Given the description of an element on the screen output the (x, y) to click on. 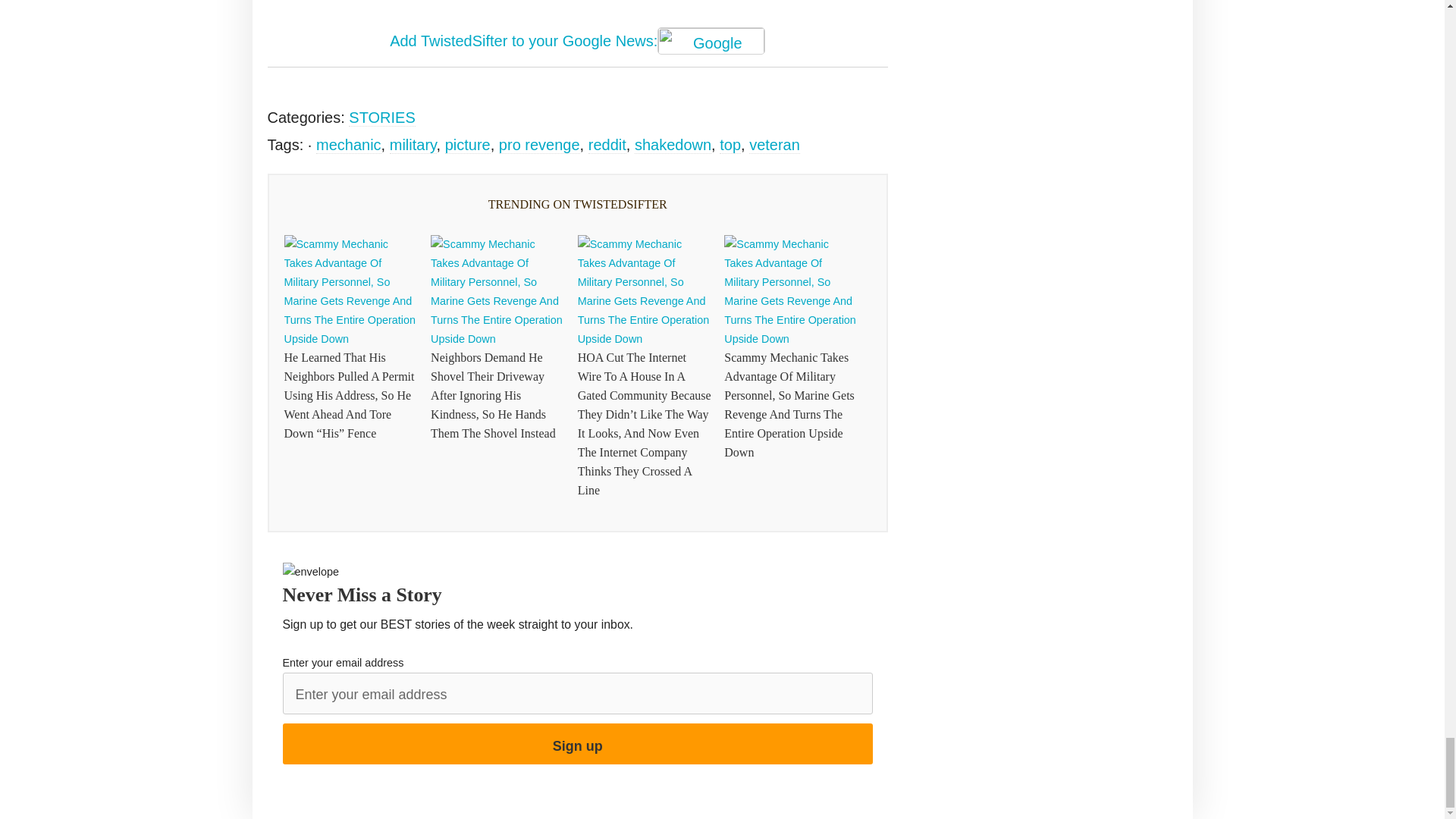
mechanic (348, 144)
pro revenge (539, 144)
Google News (711, 40)
military (413, 144)
Add TwistedSifter to your Google News: (577, 42)
picture (467, 144)
STORIES (381, 117)
Sign up (577, 743)
